Given the description of an element on the screen output the (x, y) to click on. 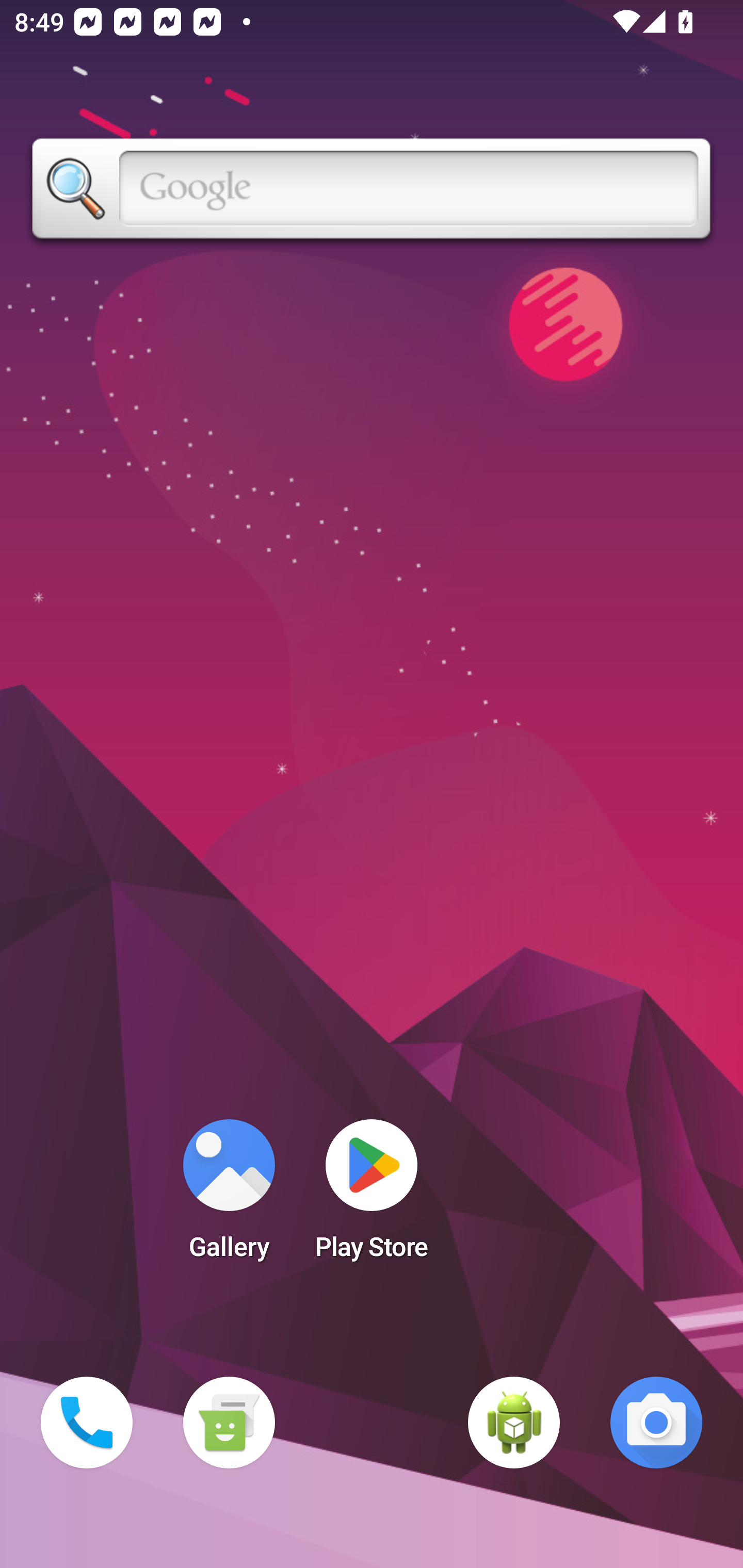
Gallery (228, 1195)
Play Store (371, 1195)
Phone (86, 1422)
Messaging (228, 1422)
WebView Browser Tester (513, 1422)
Camera (656, 1422)
